Given the description of an element on the screen output the (x, y) to click on. 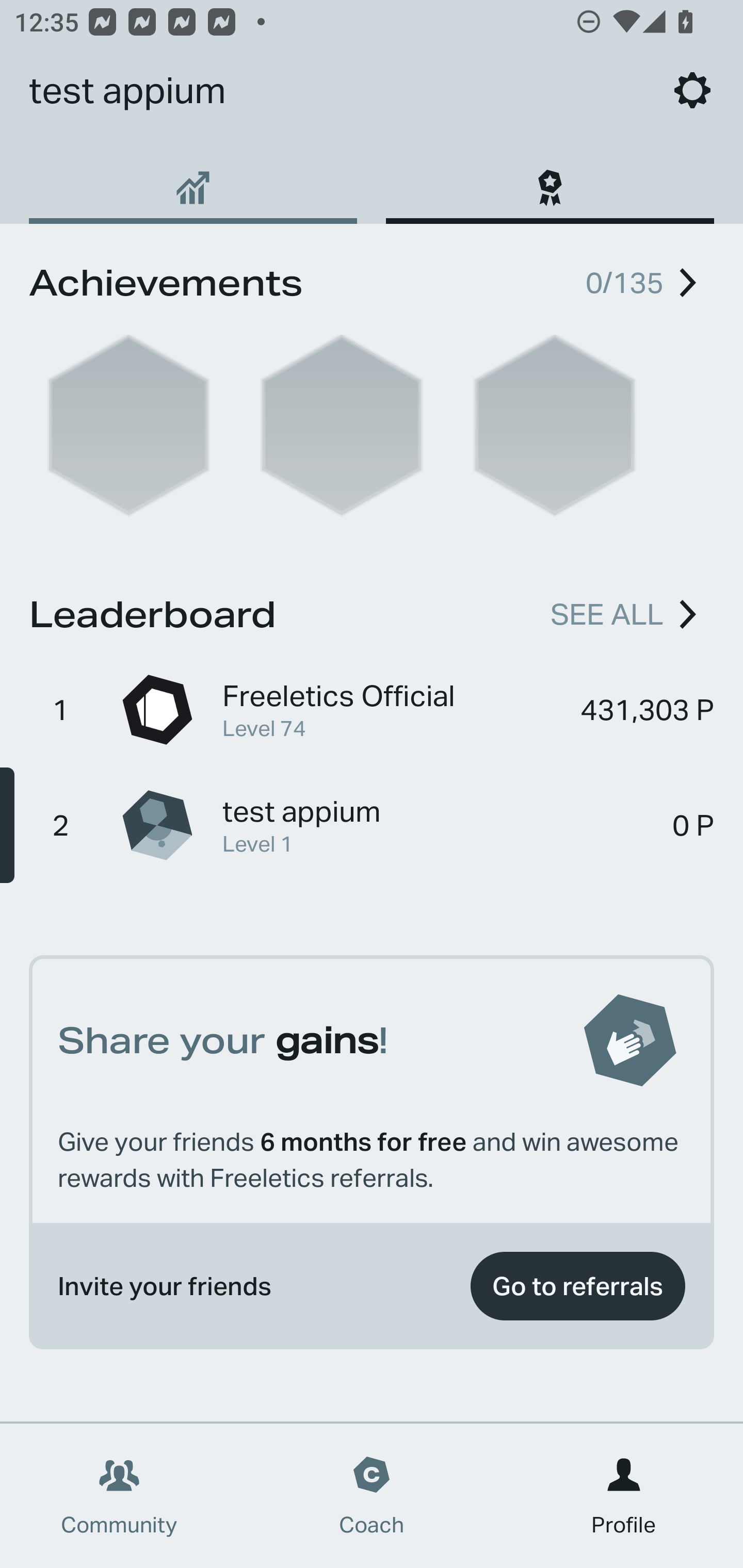
Settings (692, 90)
Daily Athlete Score (192, 180)
Hall of Fame (549, 180)
Achievements 0/135 (371, 279)
Leaderboard SEE ALL (371, 611)
1 Freeletics Official Level 74 431,303 P (371, 709)
2 test appium Level 1 0 P (371, 824)
Go to referrals (577, 1286)
Community (119, 1495)
Coach (371, 1495)
